Given the description of an element on the screen output the (x, y) to click on. 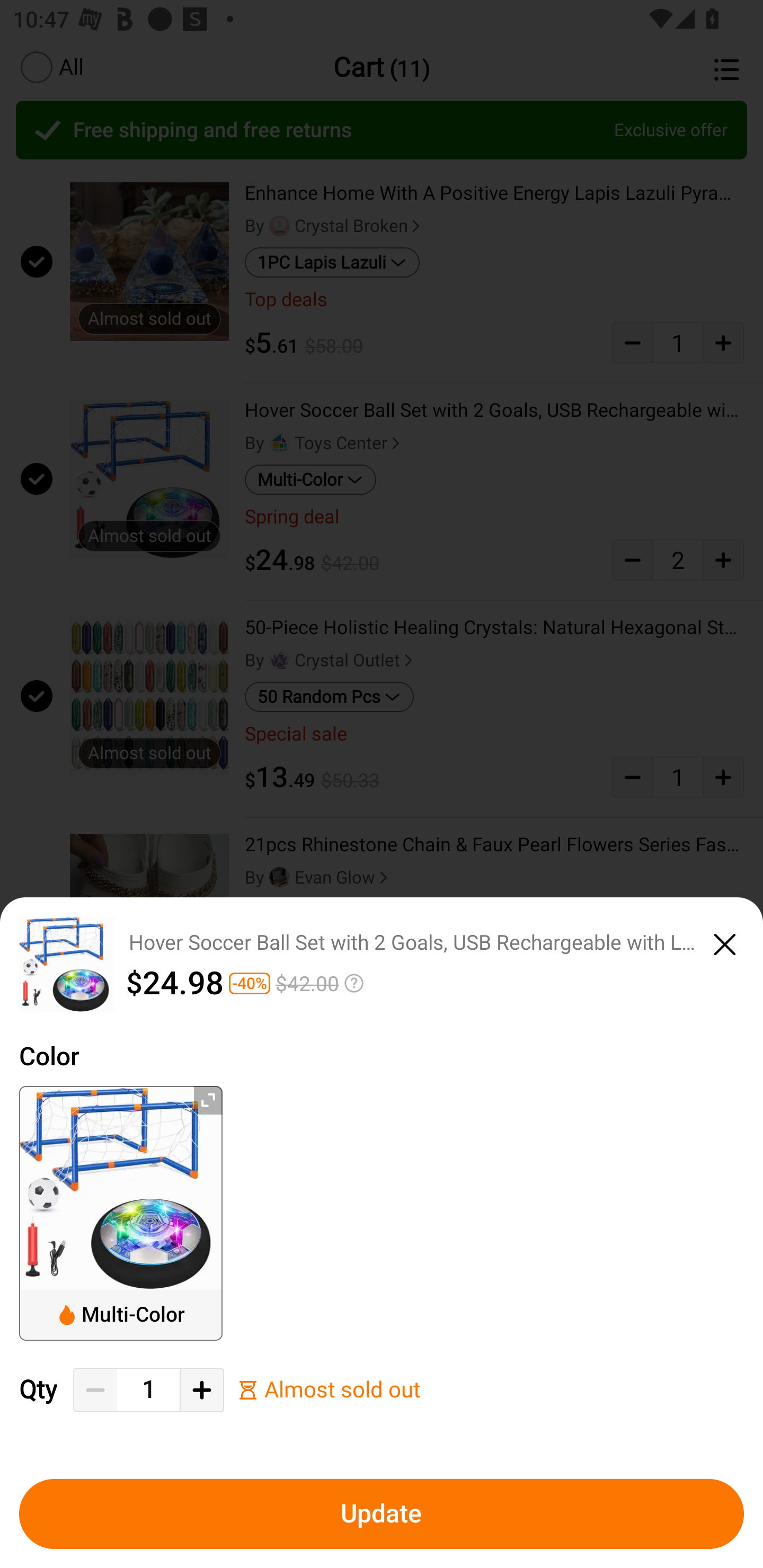
close (724, 941)
Multi-Color ￼Multi-Color (120, 1213)
Decrease Quantity Button (95, 1389)
Add Quantity Button (201, 1389)
1 (148, 1389)
Update (381, 1513)
